Given the description of an element on the screen output the (x, y) to click on. 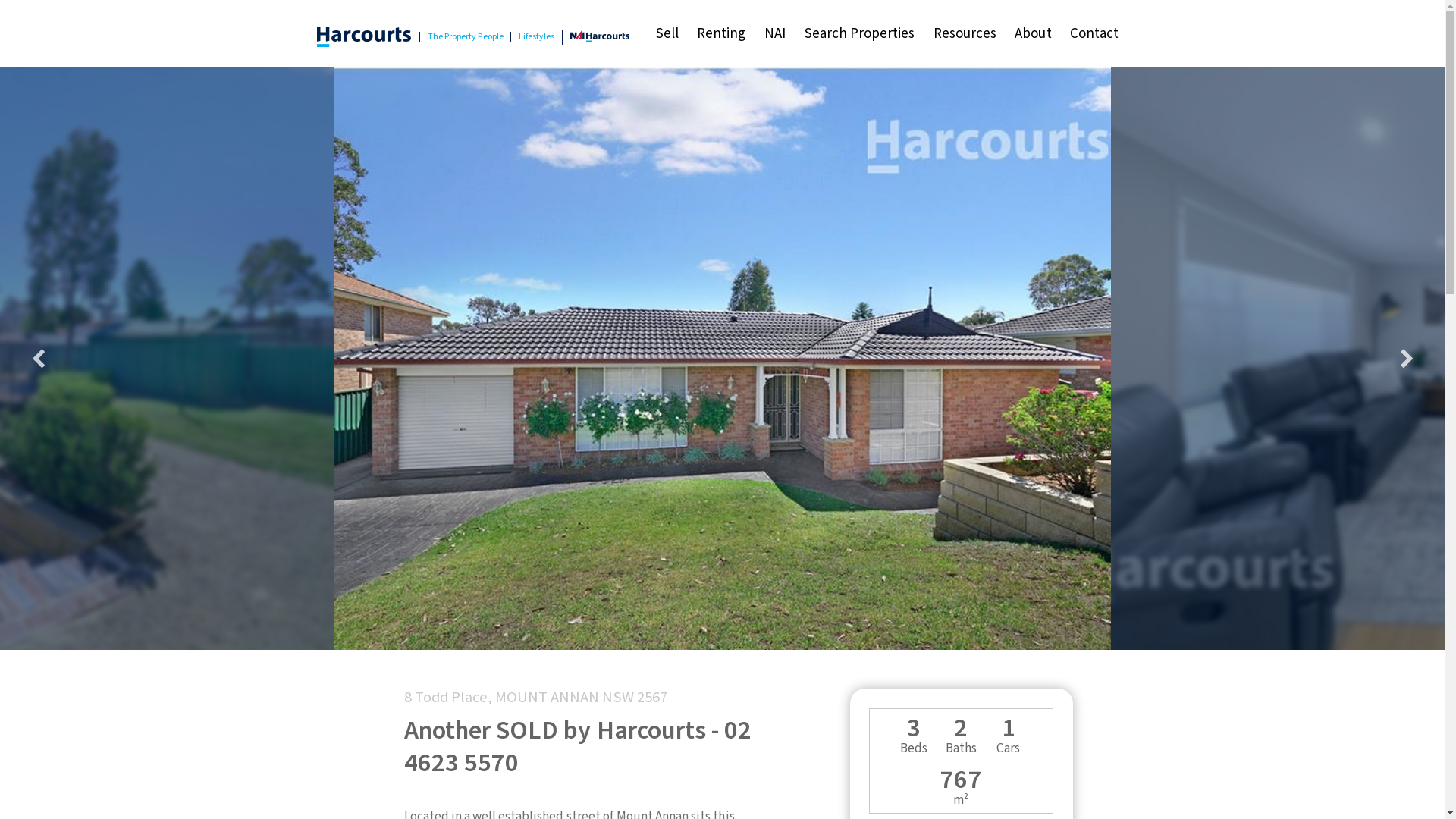
Sell Element type: text (666, 33)
Resources Element type: text (964, 33)
About Element type: text (1032, 33)
Previous Element type: text (37, 358)
Harcourts | The Property People & Lifestyles Element type: hover (363, 36)
Next Element type: text (1406, 358)
Search Properties Element type: text (858, 33)
Contact Element type: text (1094, 33)
NAI Element type: text (775, 33)
Renting Element type: text (721, 33)
